Given the description of an element on the screen output the (x, y) to click on. 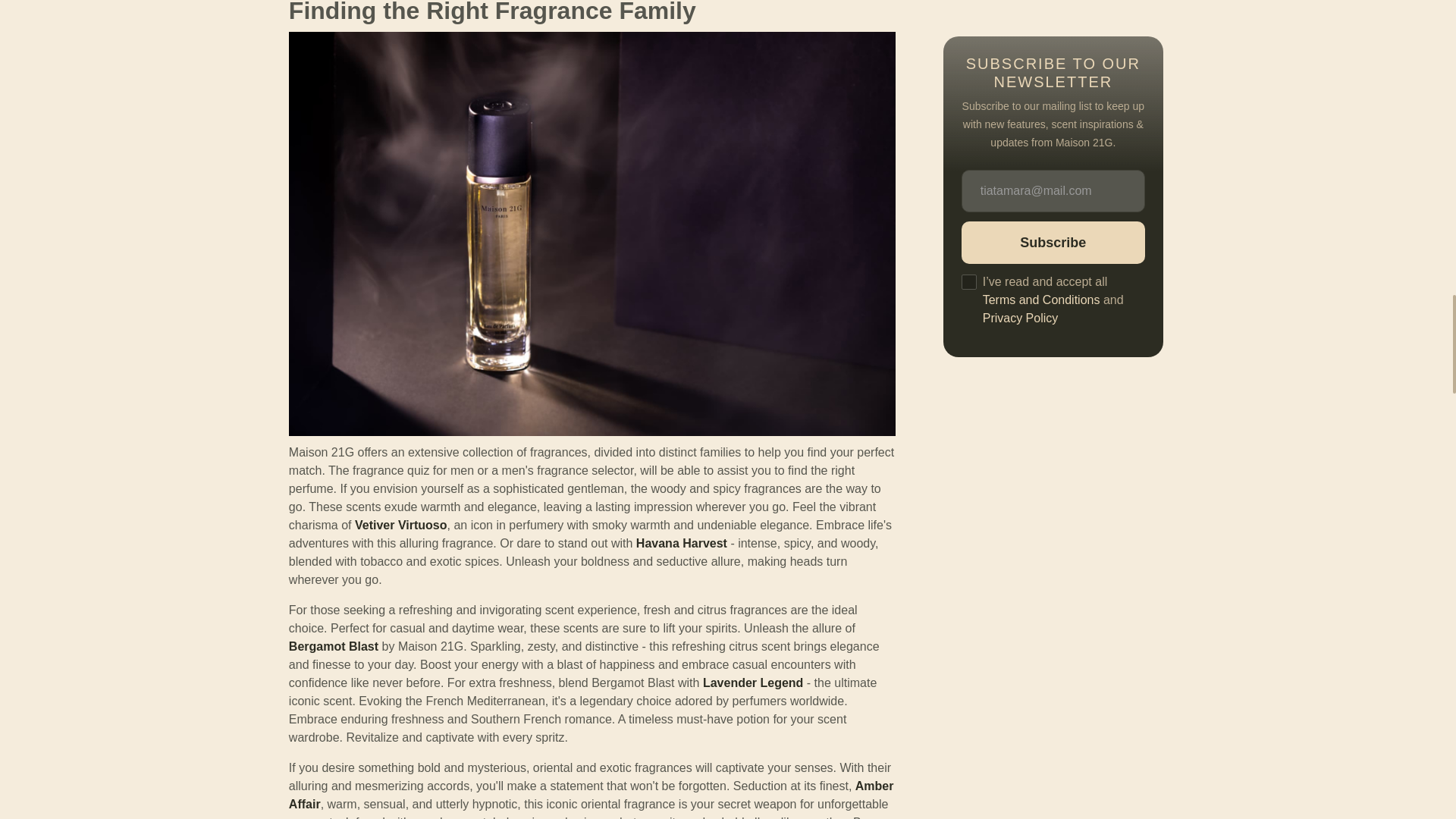
Bergamot Blast (333, 645)
Lavender Legend (753, 682)
Amber Affair (590, 794)
Vetiver Virtuoso (400, 524)
Havana Harvest (681, 543)
